Given the description of an element on the screen output the (x, y) to click on. 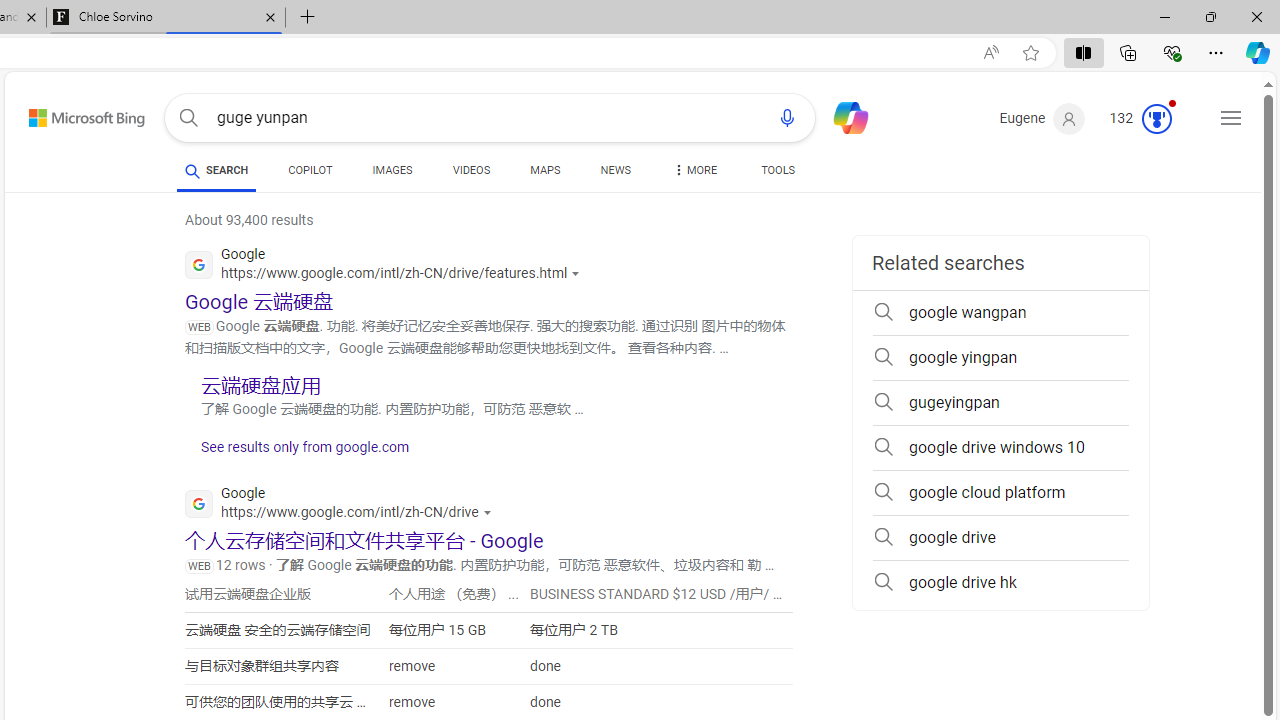
Restore (1210, 16)
VIDEOS (471, 173)
Global web icon (198, 503)
Chat (842, 116)
COPILOT (310, 170)
SEARCH (216, 170)
MORE (693, 173)
google wangpan (1000, 312)
Microsoft Rewards 123 (1142, 119)
Settings and quick links (1231, 117)
google drive hk (1000, 582)
TOOLS (777, 173)
